Given the description of an element on the screen output the (x, y) to click on. 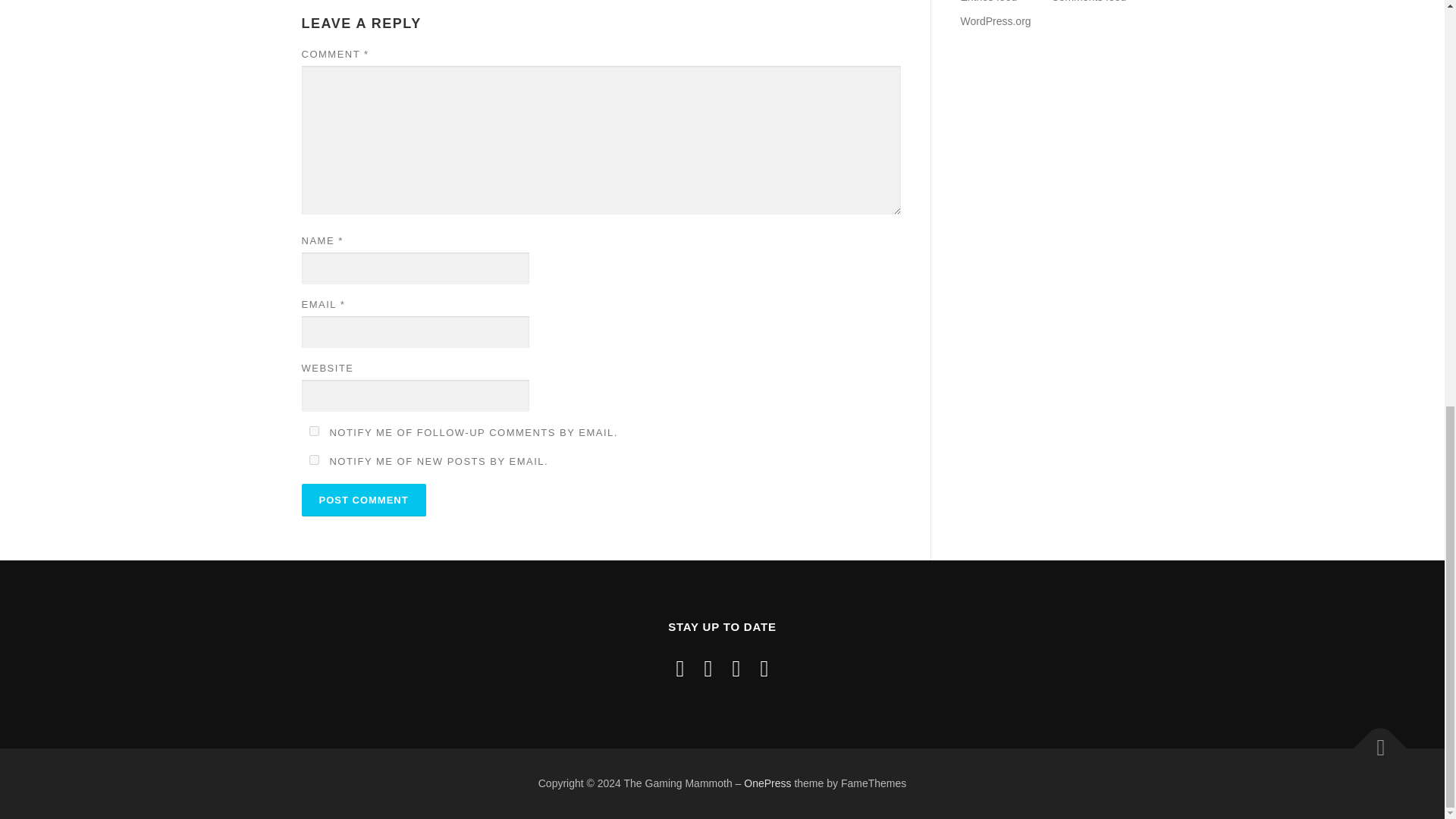
subscribe (313, 460)
subscribe (313, 430)
Back To Top (1372, 740)
Post Comment (363, 500)
Post Comment (363, 500)
